Given the description of an element on the screen output the (x, y) to click on. 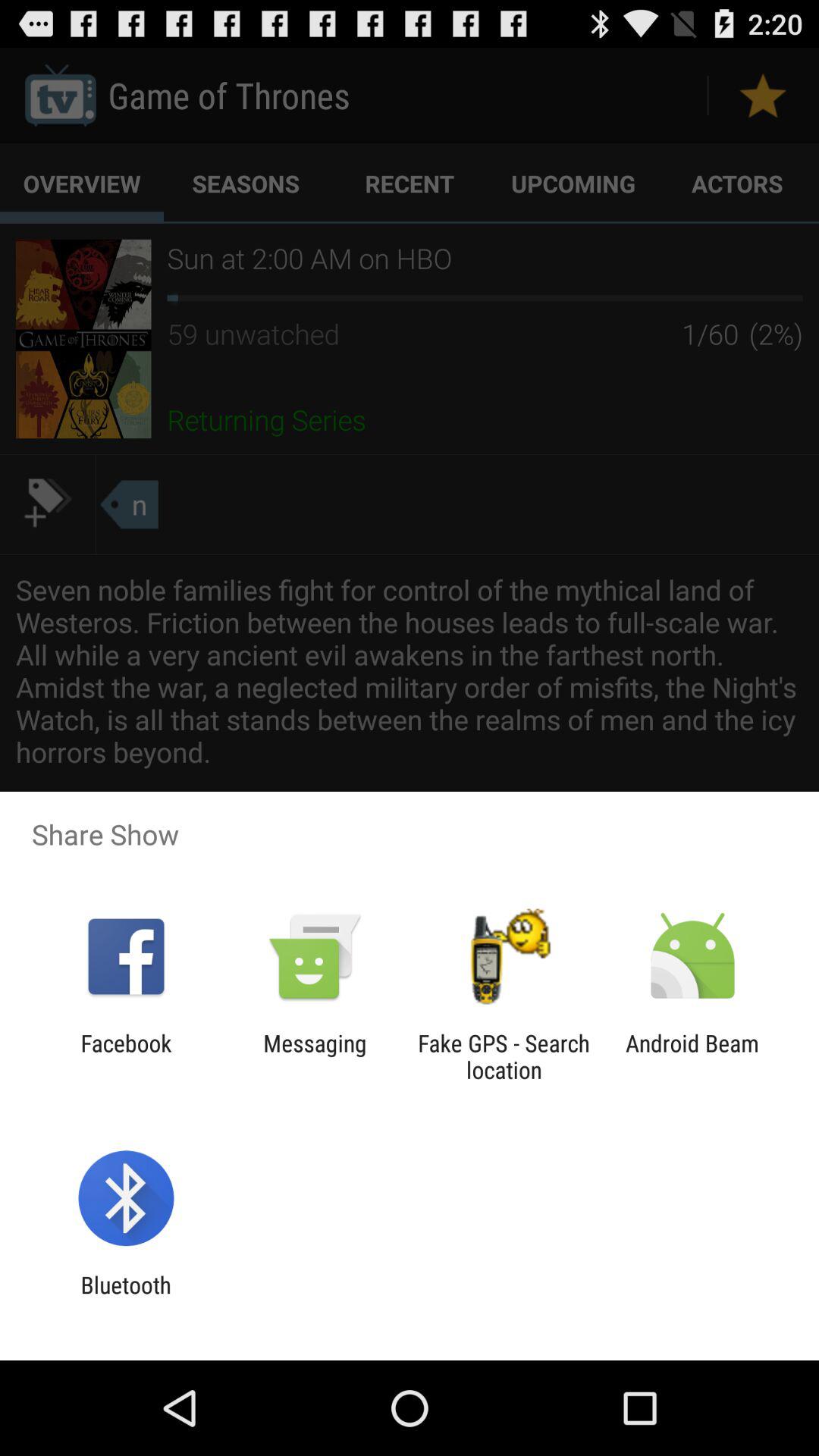
select app next to the fake gps search item (692, 1056)
